Given the description of an element on the screen output the (x, y) to click on. 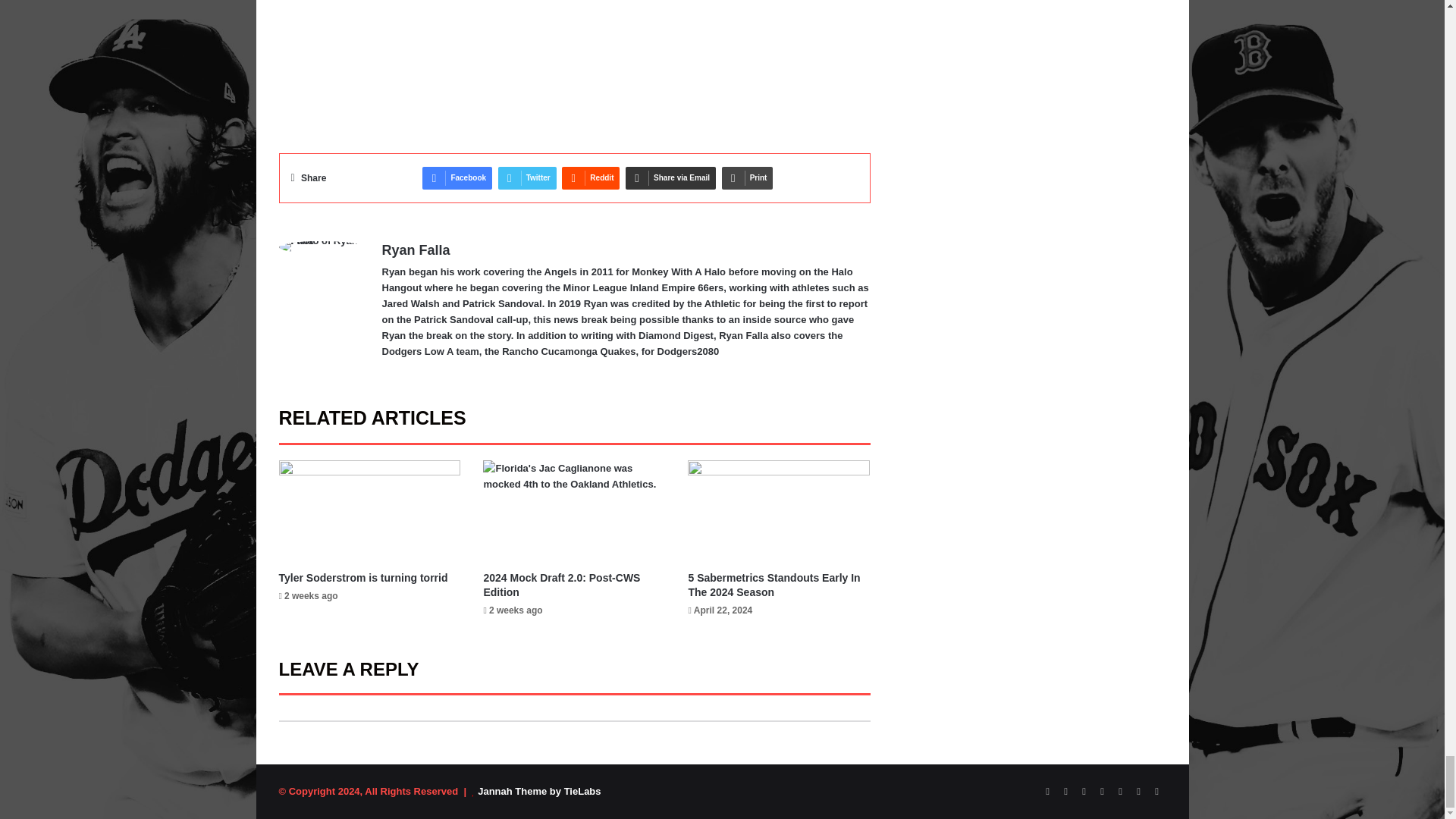
Facebook (457, 178)
Print (747, 178)
Twitter (526, 178)
Share via Email (671, 178)
Reddit (591, 178)
